Given the description of an element on the screen output the (x, y) to click on. 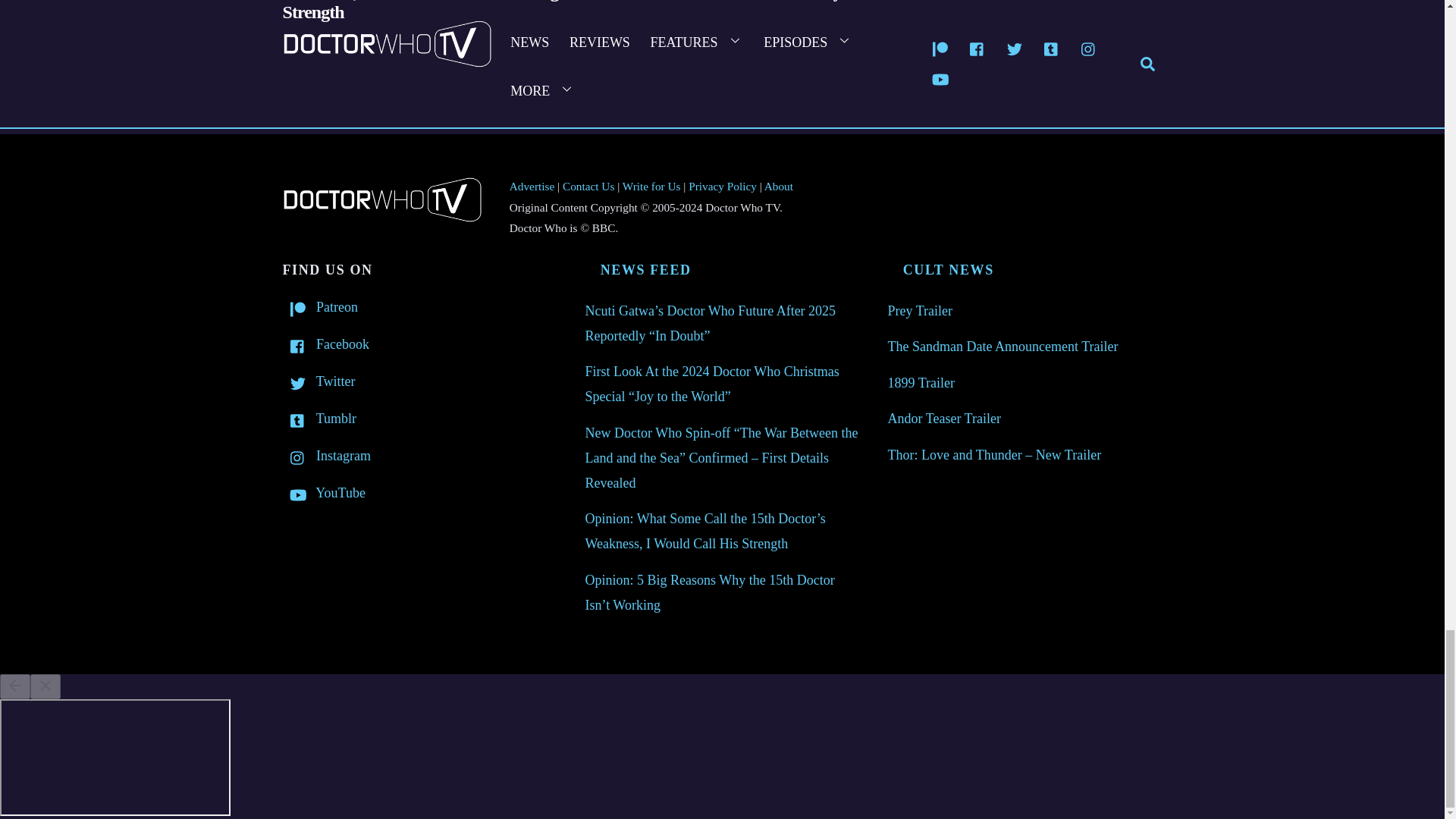
Doctor Who TV (381, 216)
